Given the description of an element on the screen output the (x, y) to click on. 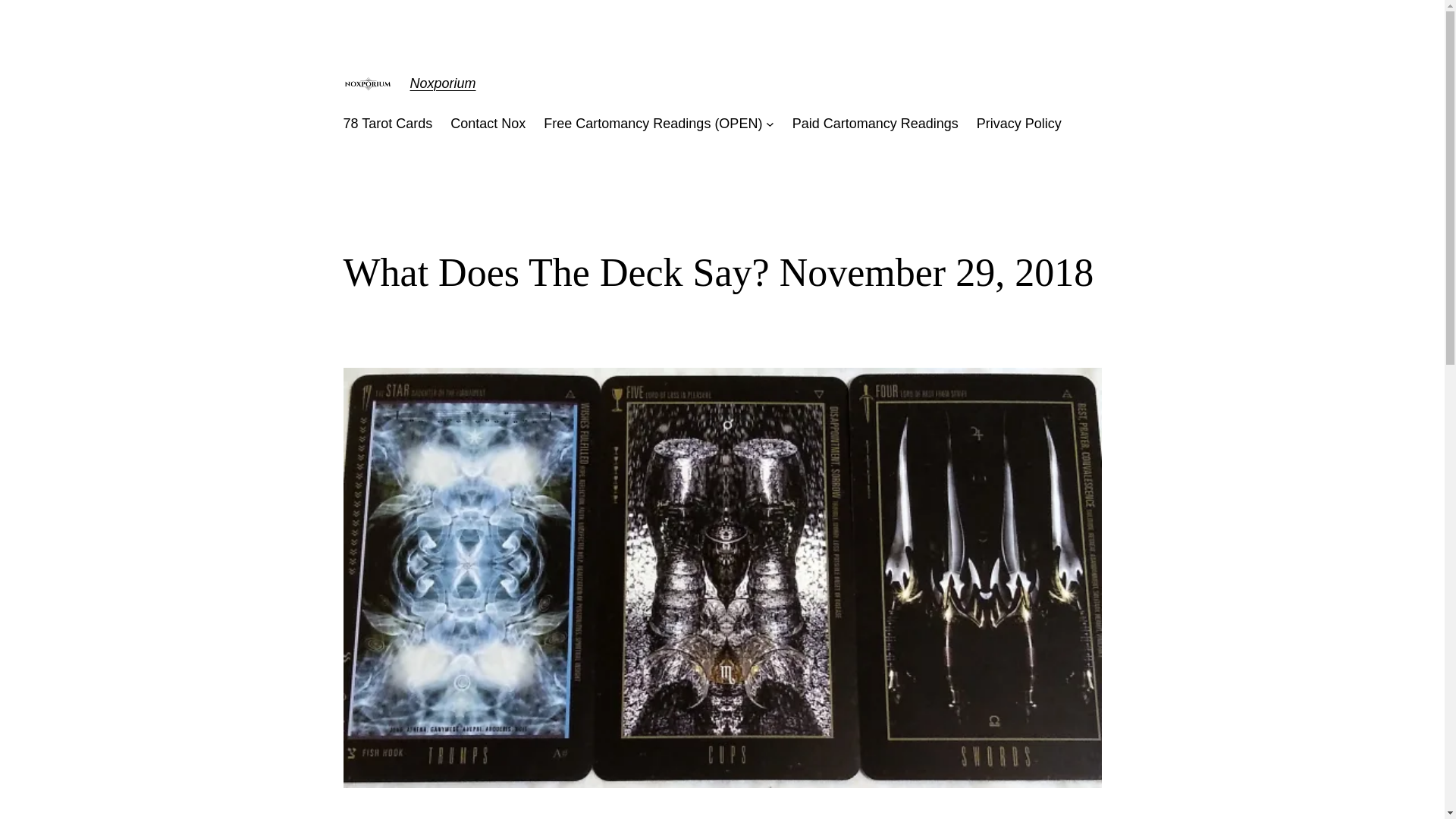
Noxporium (442, 83)
Privacy Policy (1018, 124)
78 Tarot Cards (387, 124)
Paid Cartomancy Readings (875, 124)
Contact Nox (487, 124)
